Given the description of an element on the screen output the (x, y) to click on. 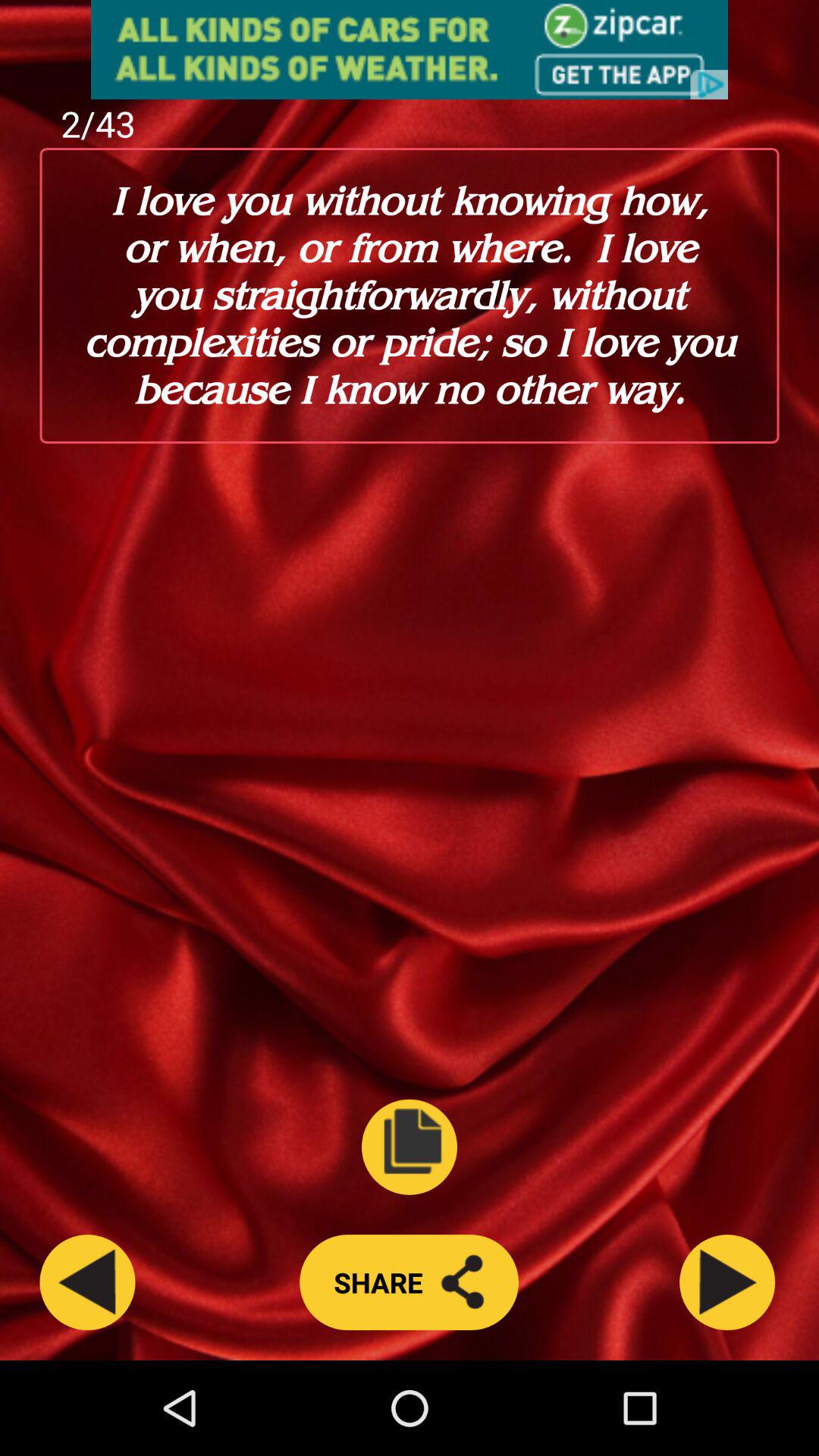
click to copyboard (409, 1146)
